Given the description of an element on the screen output the (x, y) to click on. 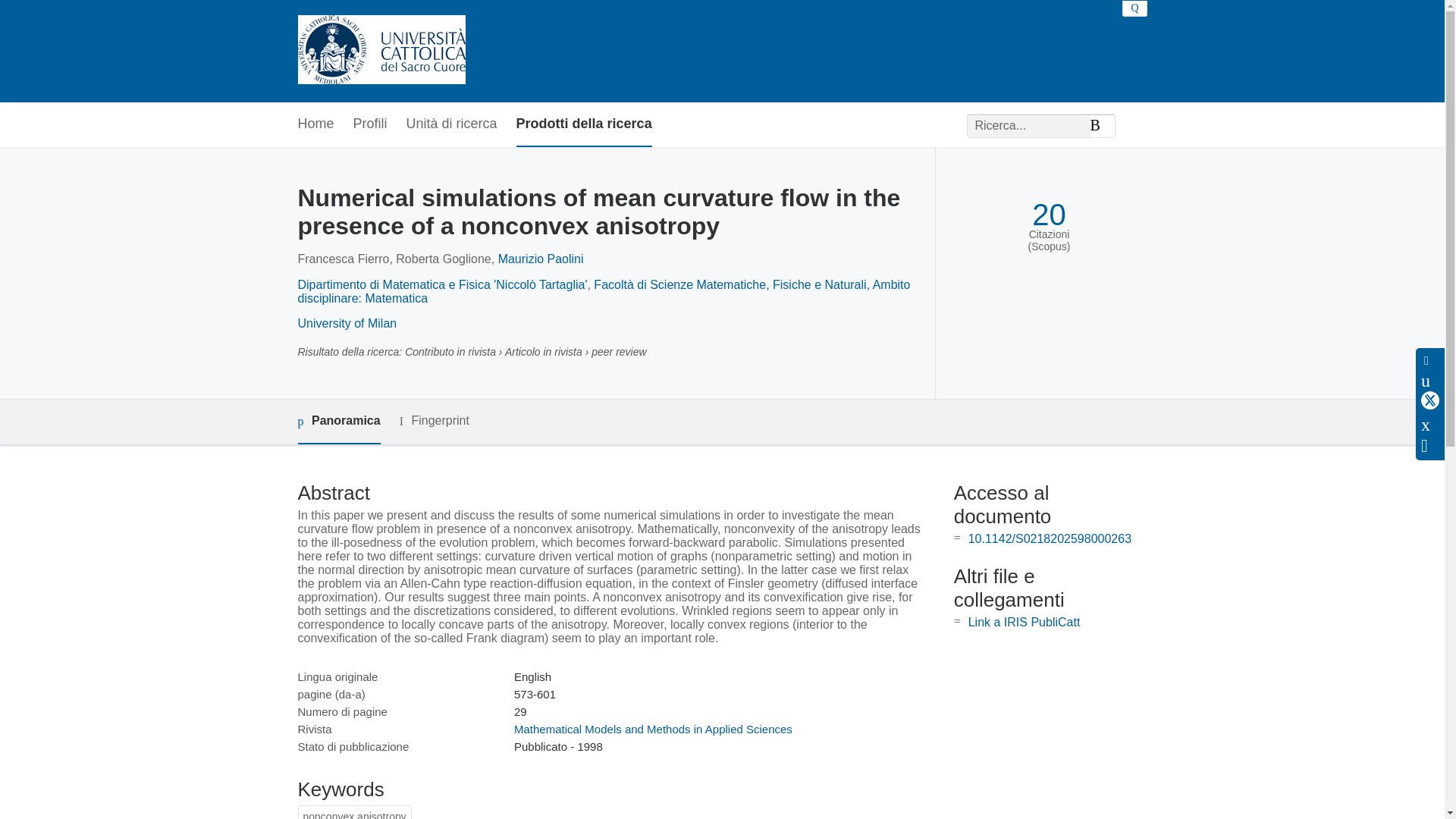
Ambito disciplinare: Matematica (603, 291)
Prodotti della ricerca (584, 124)
Mathematical Models and Methods in Applied Sciences (652, 728)
Maurizio Paolini (540, 258)
Link a IRIS PubliCatt (1024, 621)
University of Milan (346, 323)
20 (1048, 214)
Panoramica (338, 421)
PubliRES - Publications, Research, Expertise and Skills Home (380, 50)
